Given the description of an element on the screen output the (x, y) to click on. 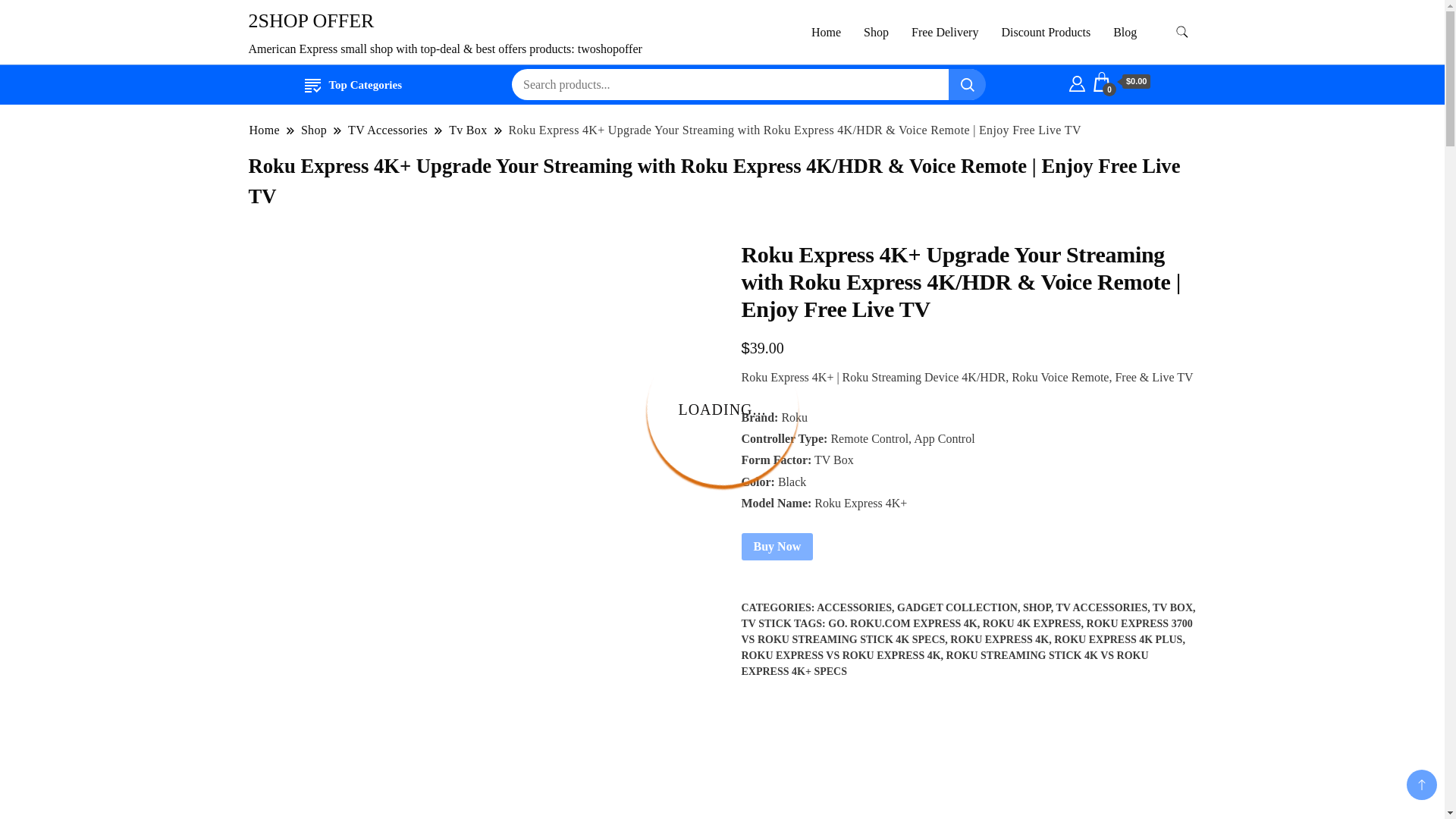
Cart (1121, 82)
Discount Products (1045, 32)
Top Categories (352, 84)
2SHOP OFFER (311, 20)
Free Delivery (944, 32)
My Account (1076, 81)
